Given the description of an element on the screen output the (x, y) to click on. 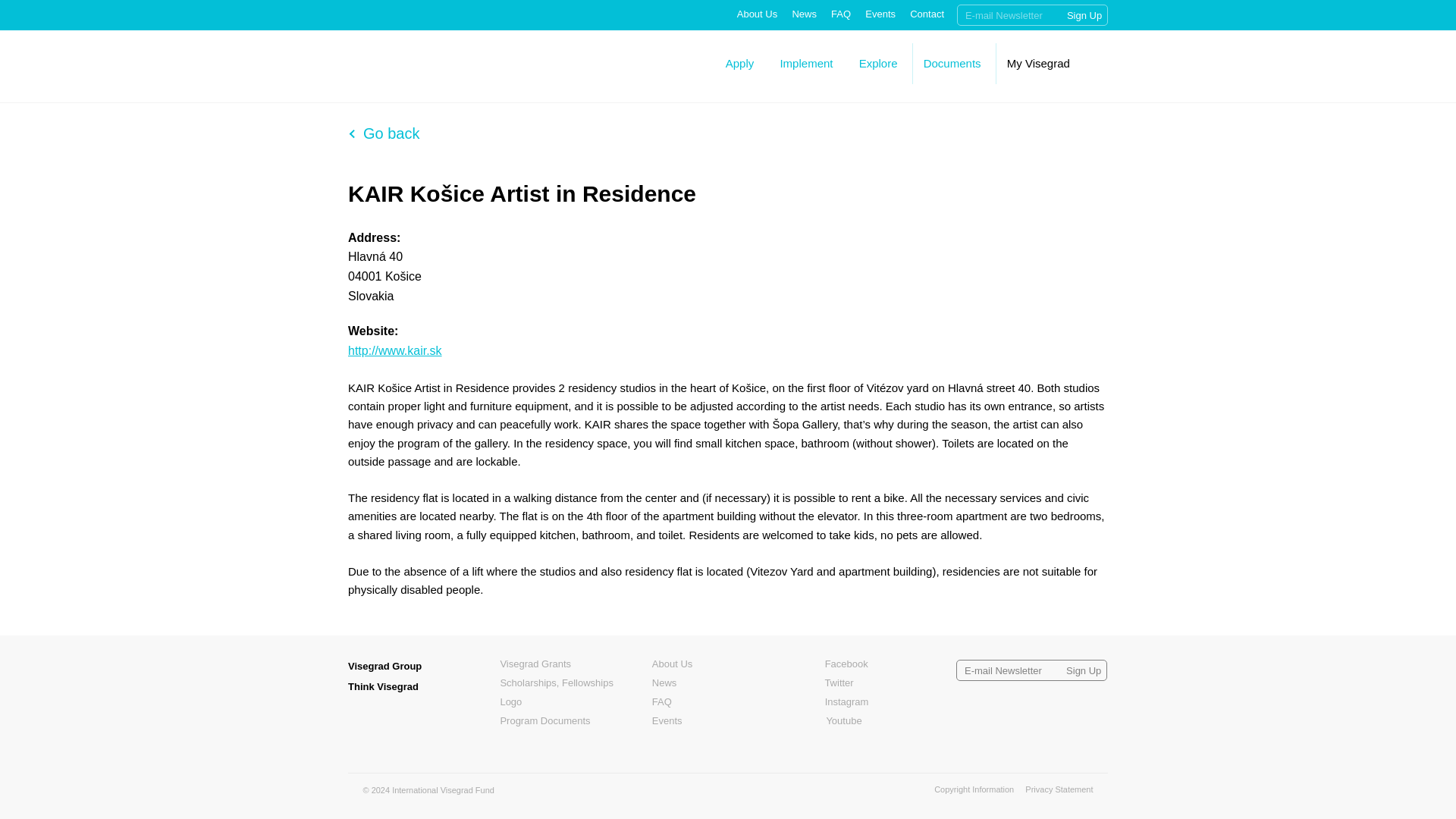
Sign Up (1082, 670)
Sign Up (1084, 14)
My Visegrad (1038, 62)
Implement (805, 62)
Explore (878, 62)
Documents (952, 62)
Contact (926, 13)
FAQ (840, 13)
Apply (739, 62)
About Us (756, 13)
News (804, 13)
Events (879, 13)
Sign Up (1084, 14)
